Given the description of an element on the screen output the (x, y) to click on. 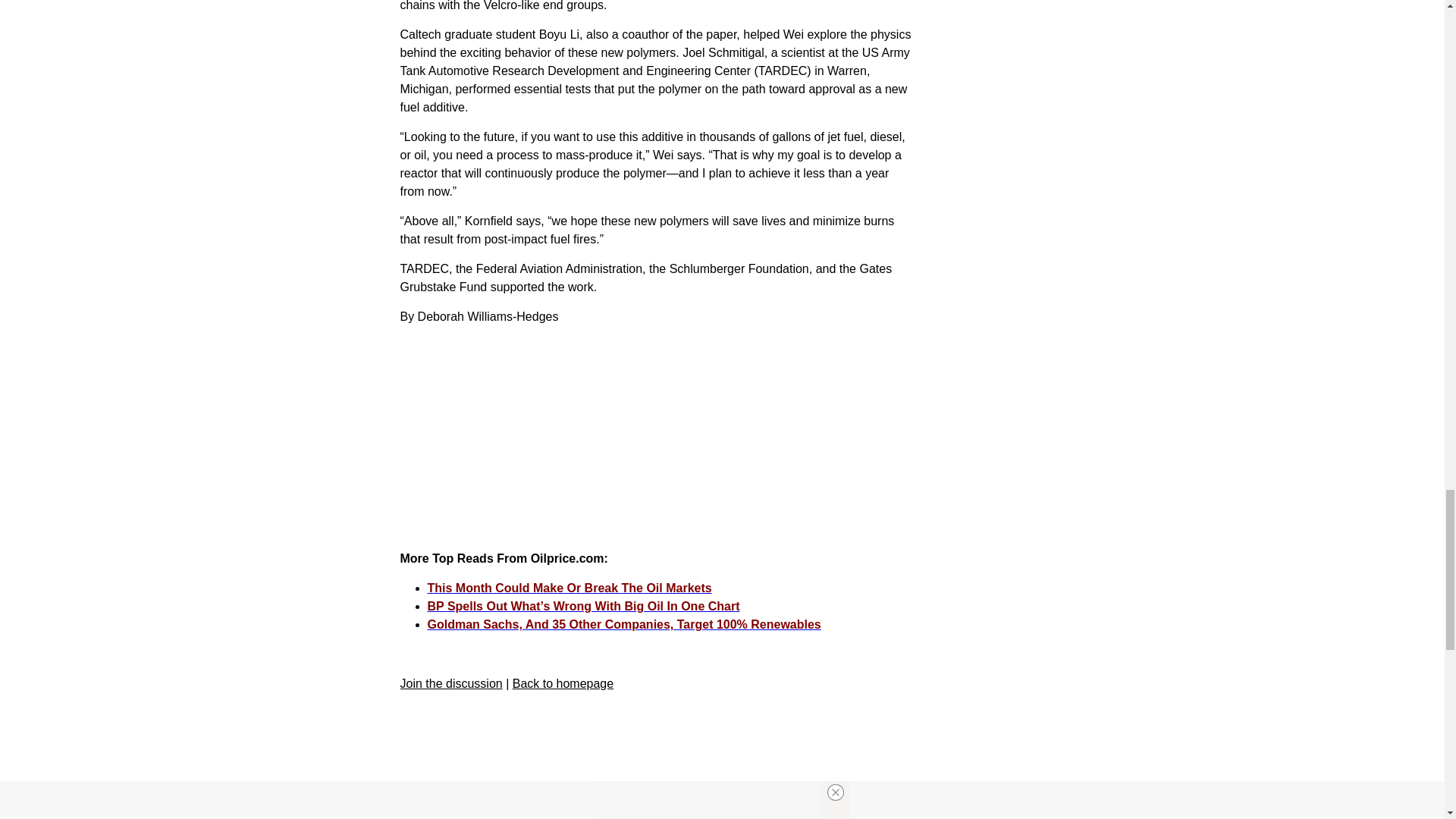
3rd party ad content (655, 443)
